Given the description of an element on the screen output the (x, y) to click on. 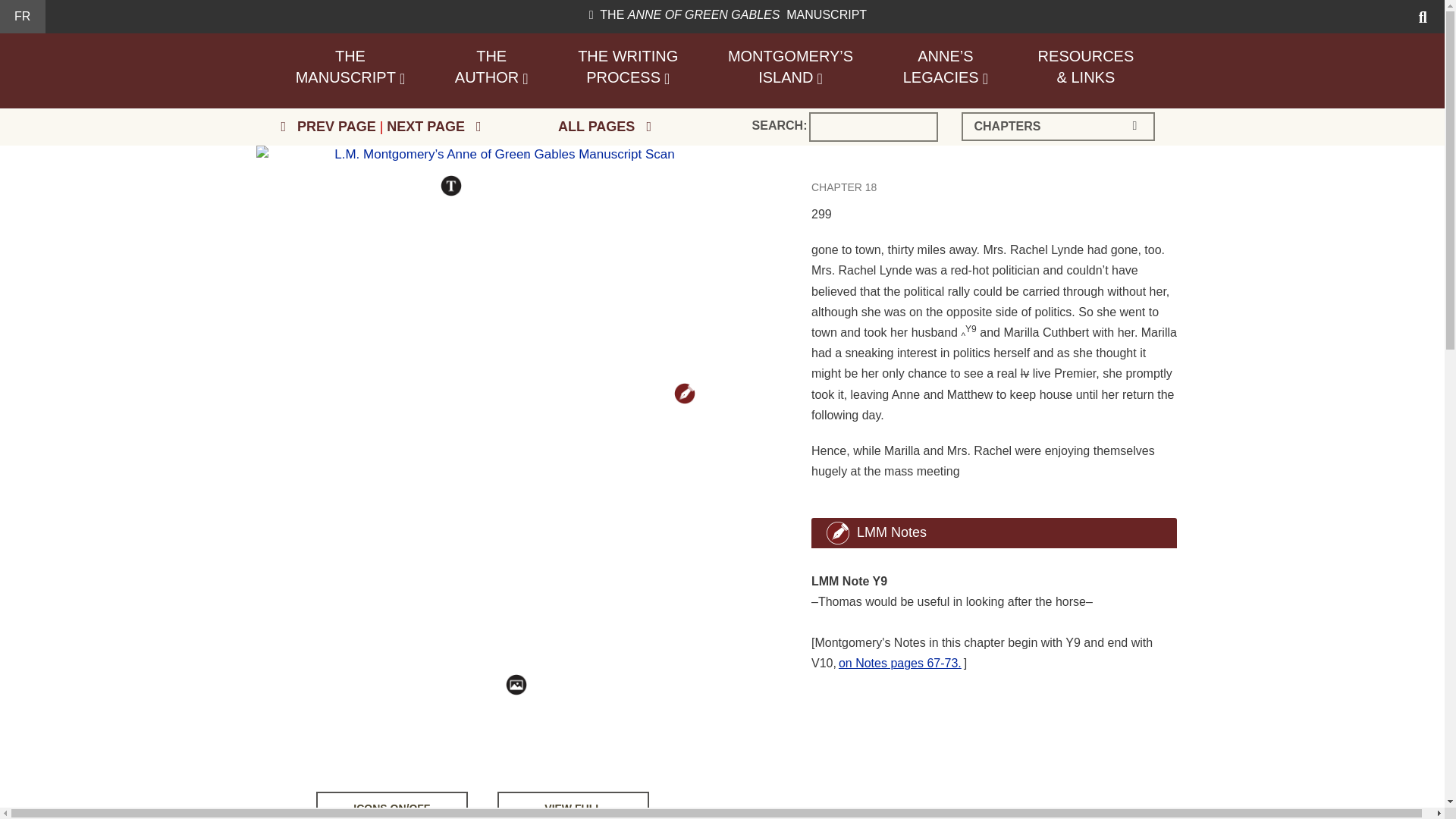
FR (491, 67)
  THE ANNE OF GREEN GABLES  MANUSCRIPT (22, 16)
